Given the description of an element on the screen output the (x, y) to click on. 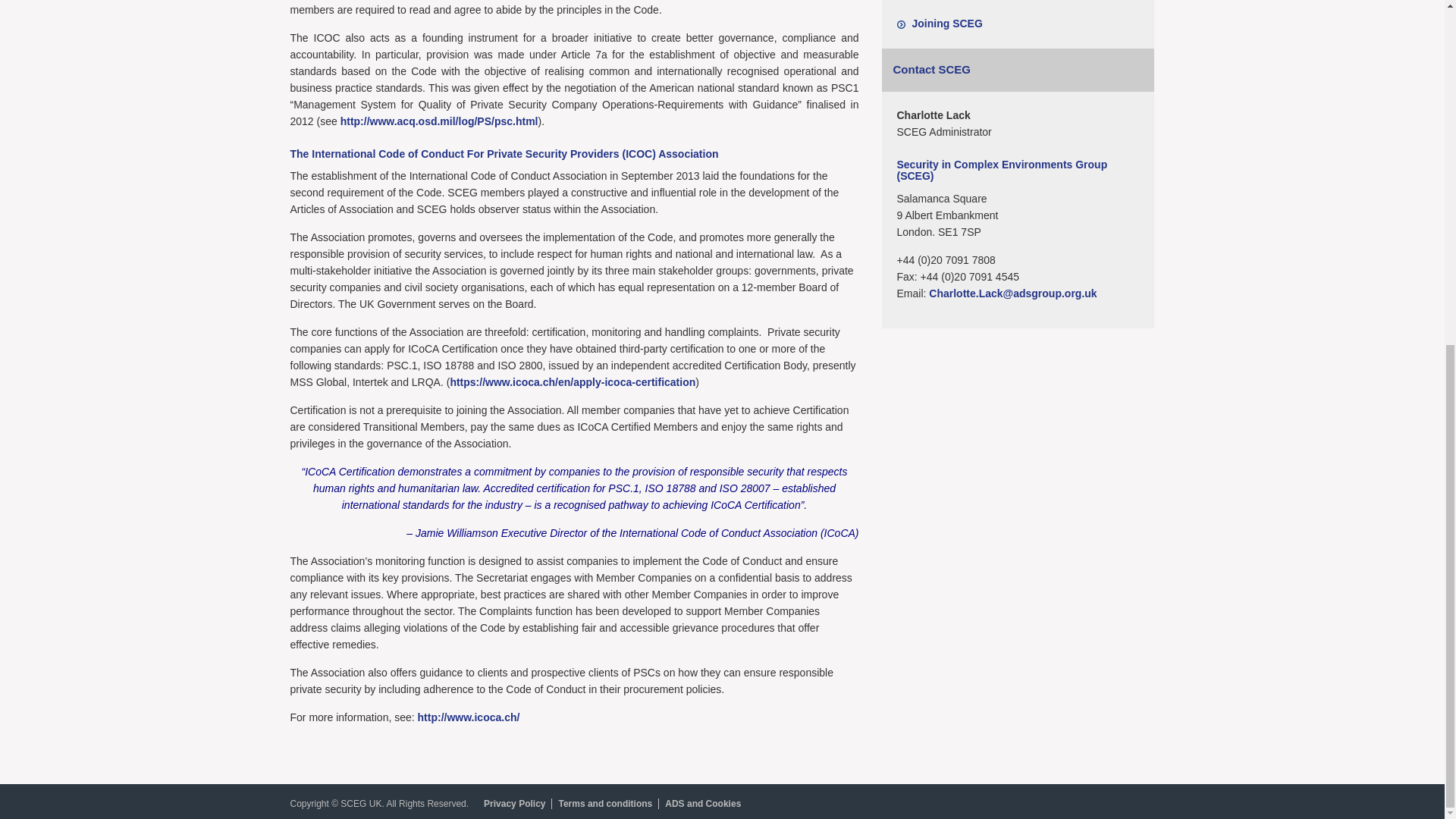
ADS and Cookies (705, 803)
Privacy Policy (517, 803)
Joining SCEG (946, 23)
Terms and conditions (608, 803)
